Given the description of an element on the screen output the (x, y) to click on. 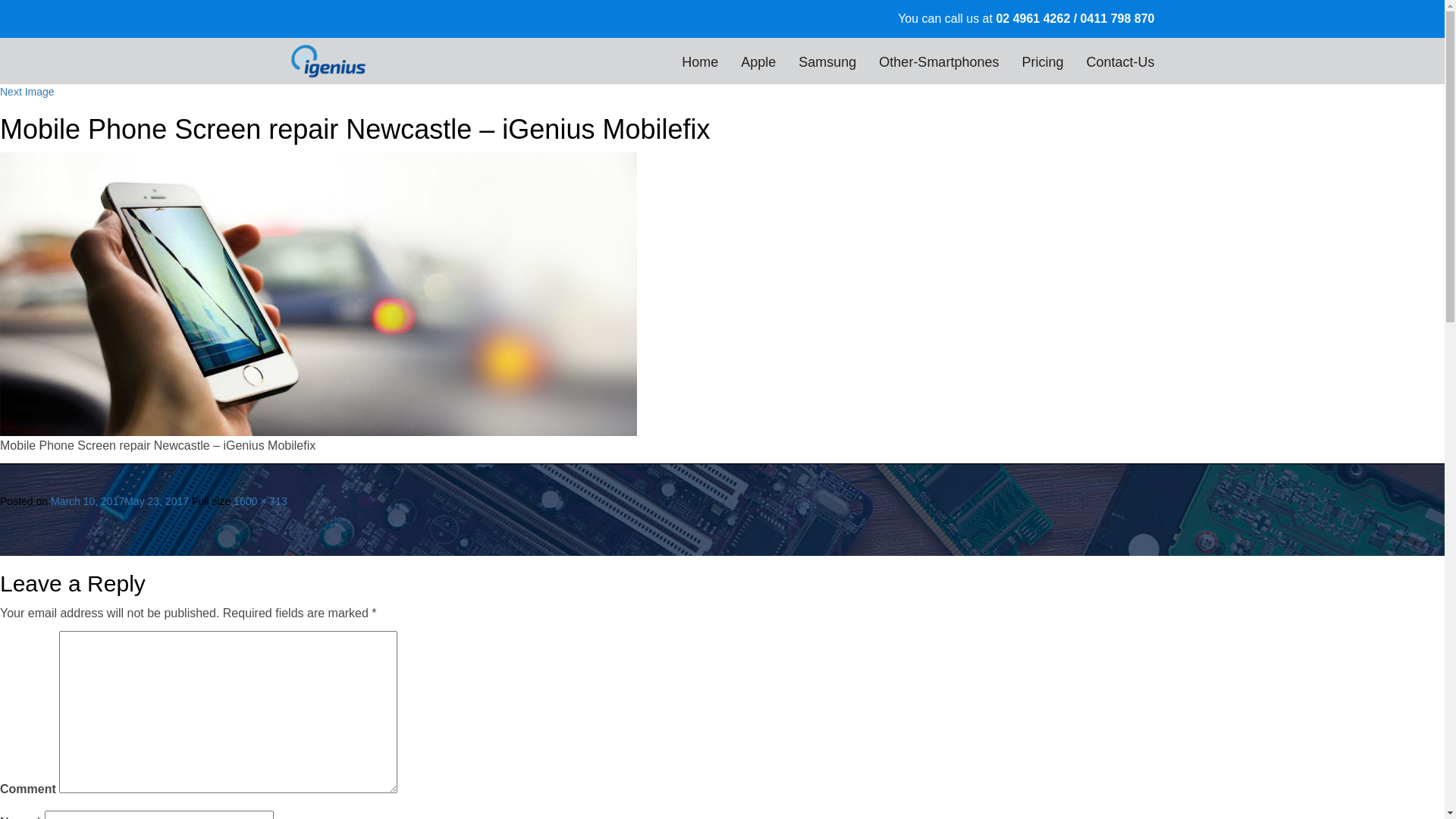
Samsung Element type: text (827, 62)
Next Image Element type: text (27, 91)
Other-Smartphones Element type: text (938, 62)
Pricing Element type: text (1042, 62)
Contact-Us Element type: text (1119, 62)
Apple Element type: text (758, 62)
Home Element type: text (699, 62)
March 10, 2017May 23, 2017 Element type: text (119, 501)
